Given the description of an element on the screen output the (x, y) to click on. 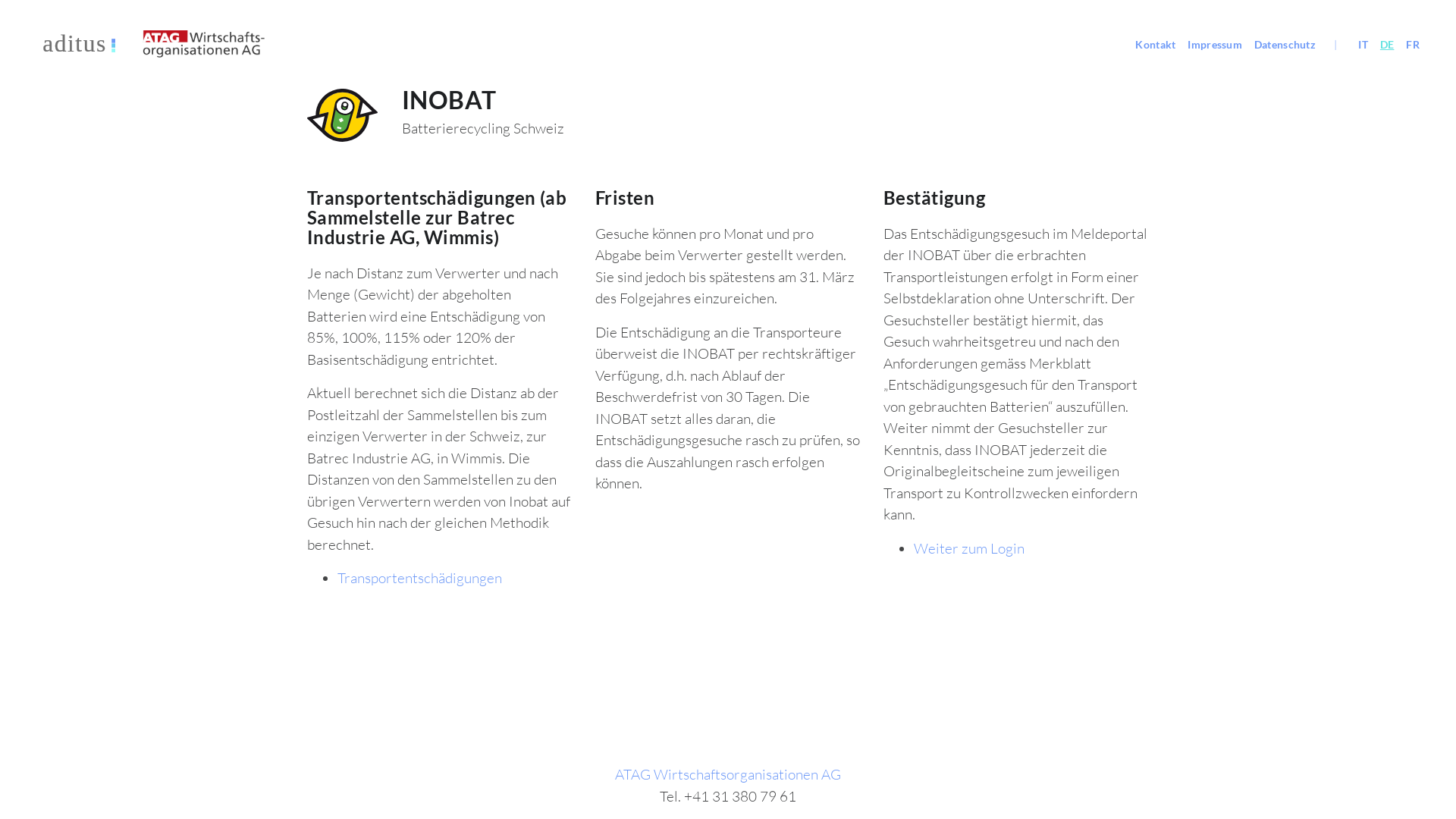
Impressum Element type: text (1214, 44)
DE Element type: text (1387, 44)
Weiter zum Login Element type: text (968, 547)
FR Element type: text (1412, 44)
IT Element type: text (1363, 44)
ATAG Wirtschaftsorganisationen AG Element type: text (727, 774)
Datenschutz Element type: text (1284, 44)
Kontakt Element type: text (1155, 44)
